Given the description of an element on the screen output the (x, y) to click on. 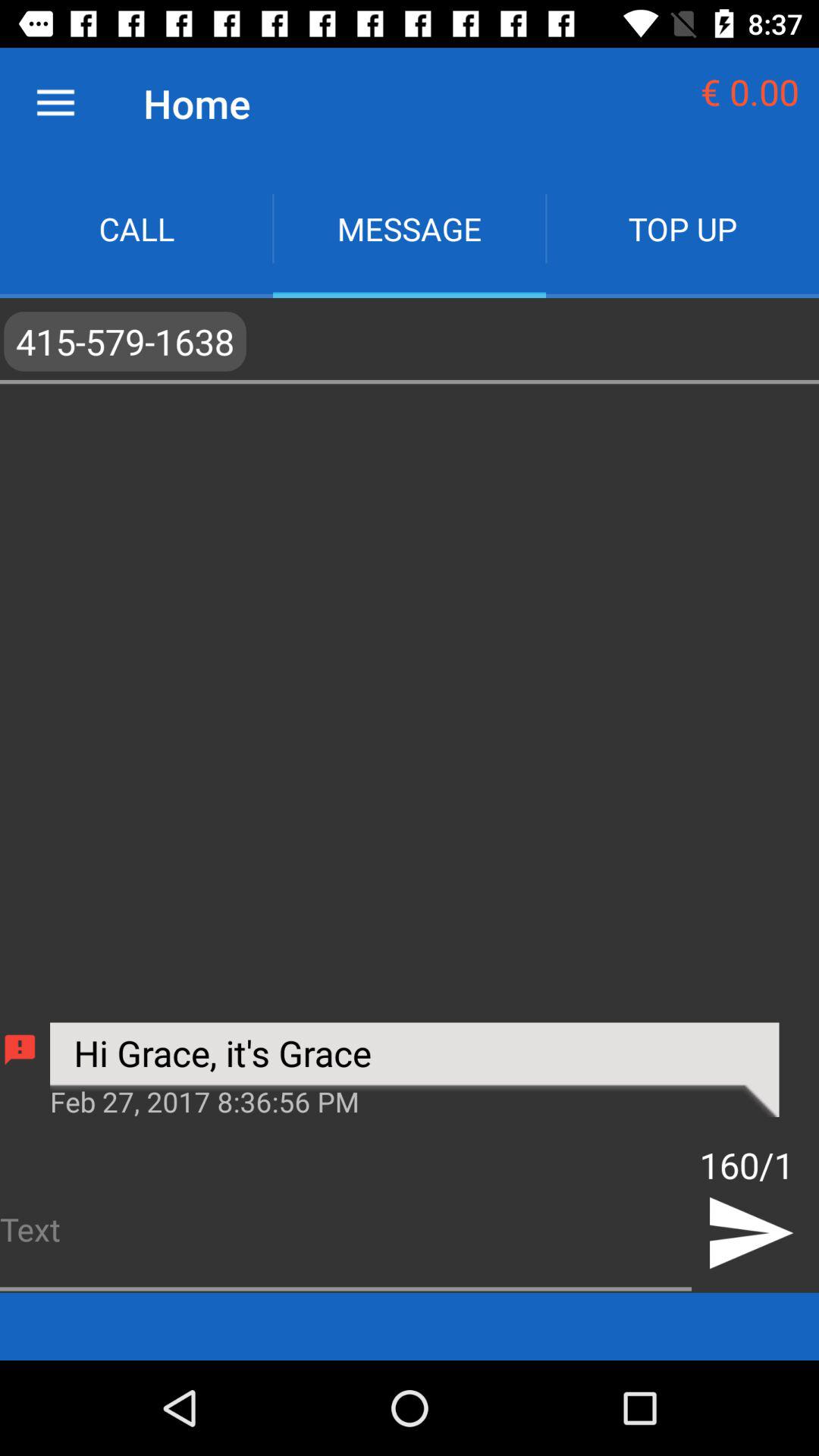
press feb 27 2017 item (414, 1099)
